Given the description of an element on the screen output the (x, y) to click on. 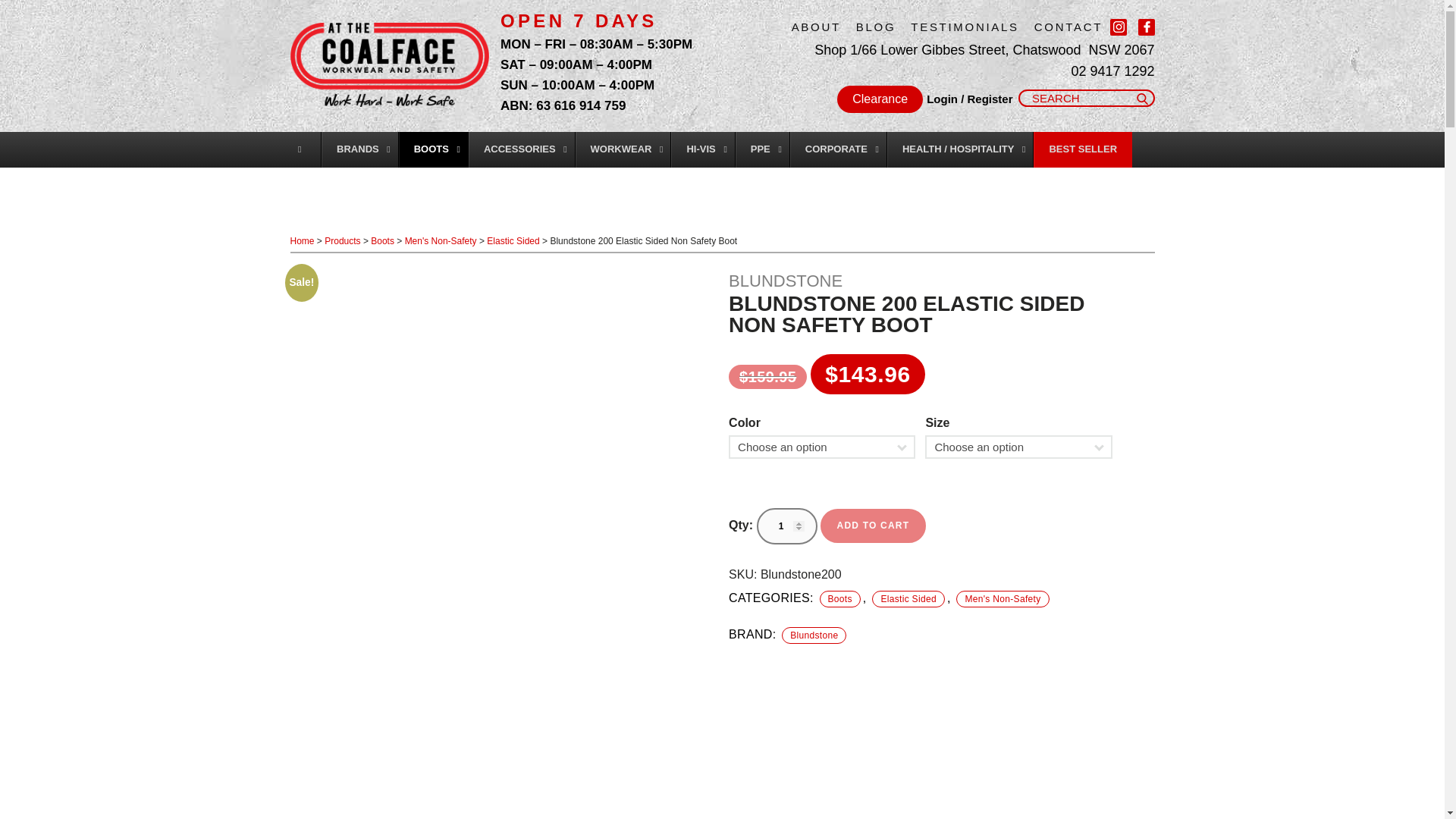
CONTACT (1067, 26)
Go to the Boots Category archives. (382, 240)
Go to At The Coal Face Workwear. (301, 240)
1 (786, 525)
Go to the Men's Non-Safety Category archives. (440, 240)
Go to Products. (341, 240)
BLOG (883, 26)
Go to the Elastic Sided Category archives. (512, 240)
Clearance (879, 98)
TESTIMONIALS (972, 26)
